Given the description of an element on the screen output the (x, y) to click on. 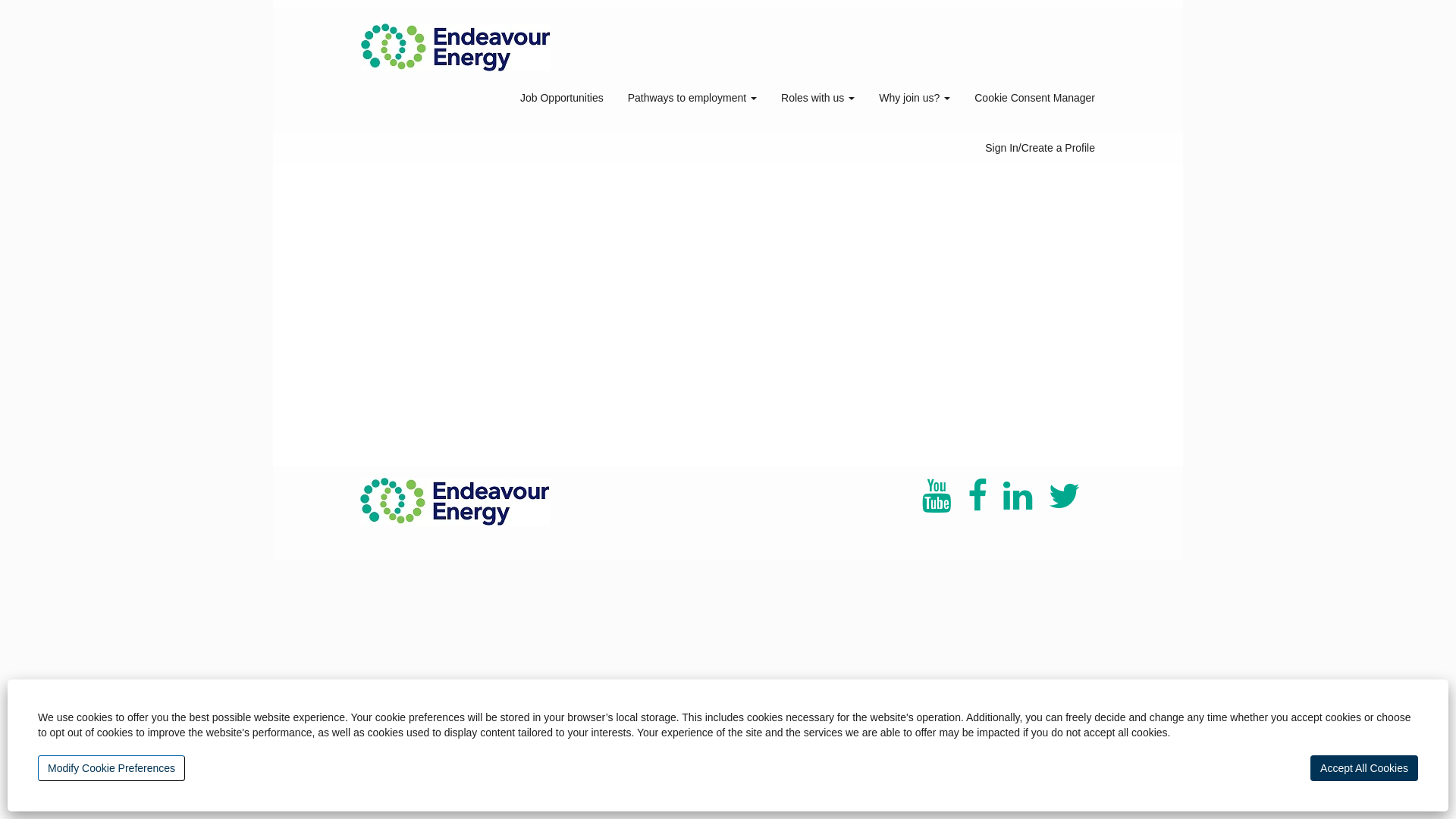
Modify Cookie Preferences Element type: text (111, 768)
Cookie Consent Manager Element type: text (1034, 97)
Sign In/Create a Profile Element type: text (1039, 147)
youtube Element type: hover (936, 496)
linkedin Element type: hover (1017, 496)
Job Opportunities Element type: text (561, 97)
facebook Element type: hover (977, 496)
Accept All Cookies Element type: text (1364, 768)
Why join us? Element type: text (914, 97)
twitter Element type: hover (1064, 496)
Pathways to employment Element type: text (692, 97)
Roles with us Element type: text (817, 97)
